Given the description of an element on the screen output the (x, y) to click on. 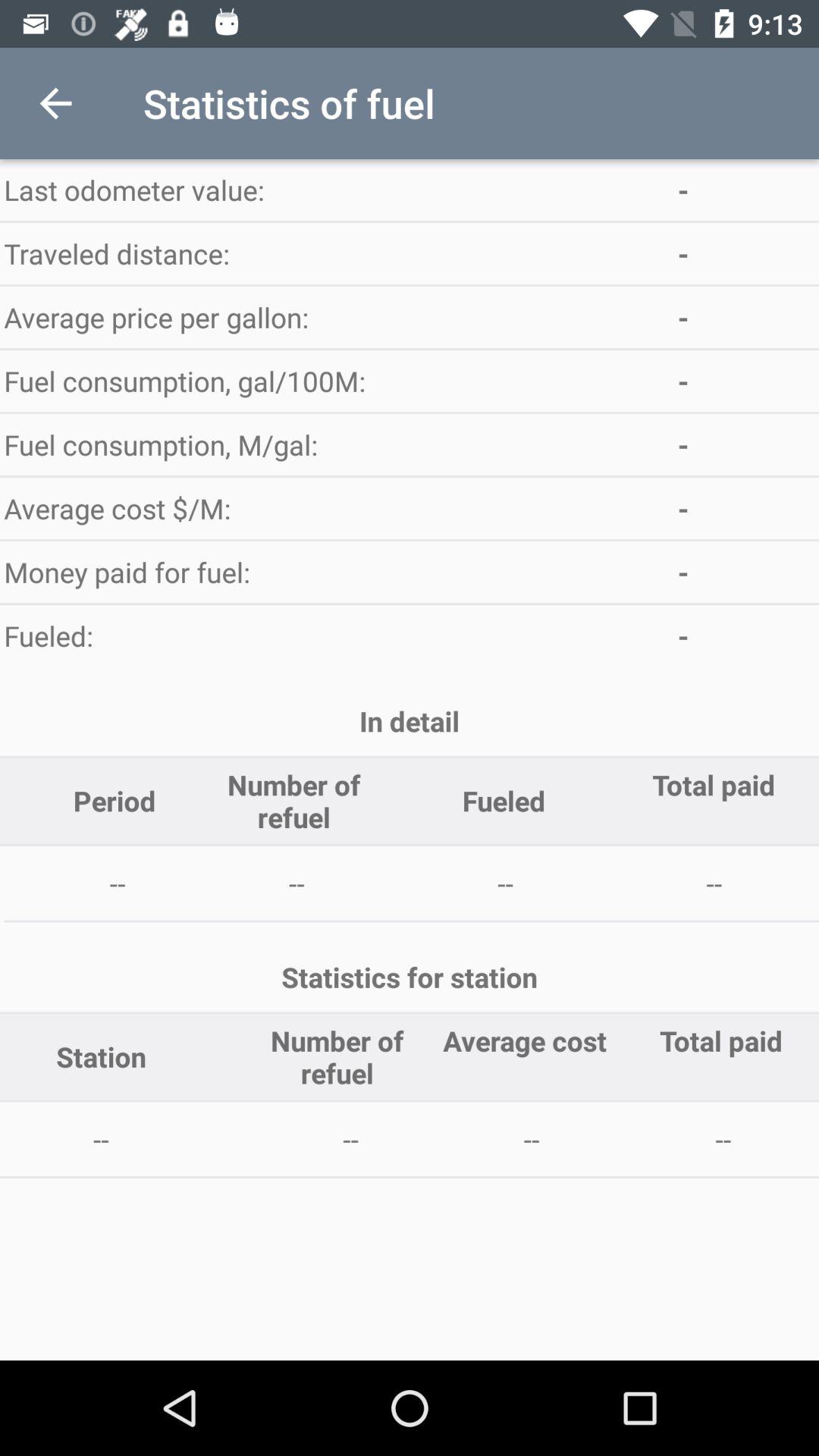
turn off item at the top left corner (55, 103)
